Given the description of an element on the screen output the (x, y) to click on. 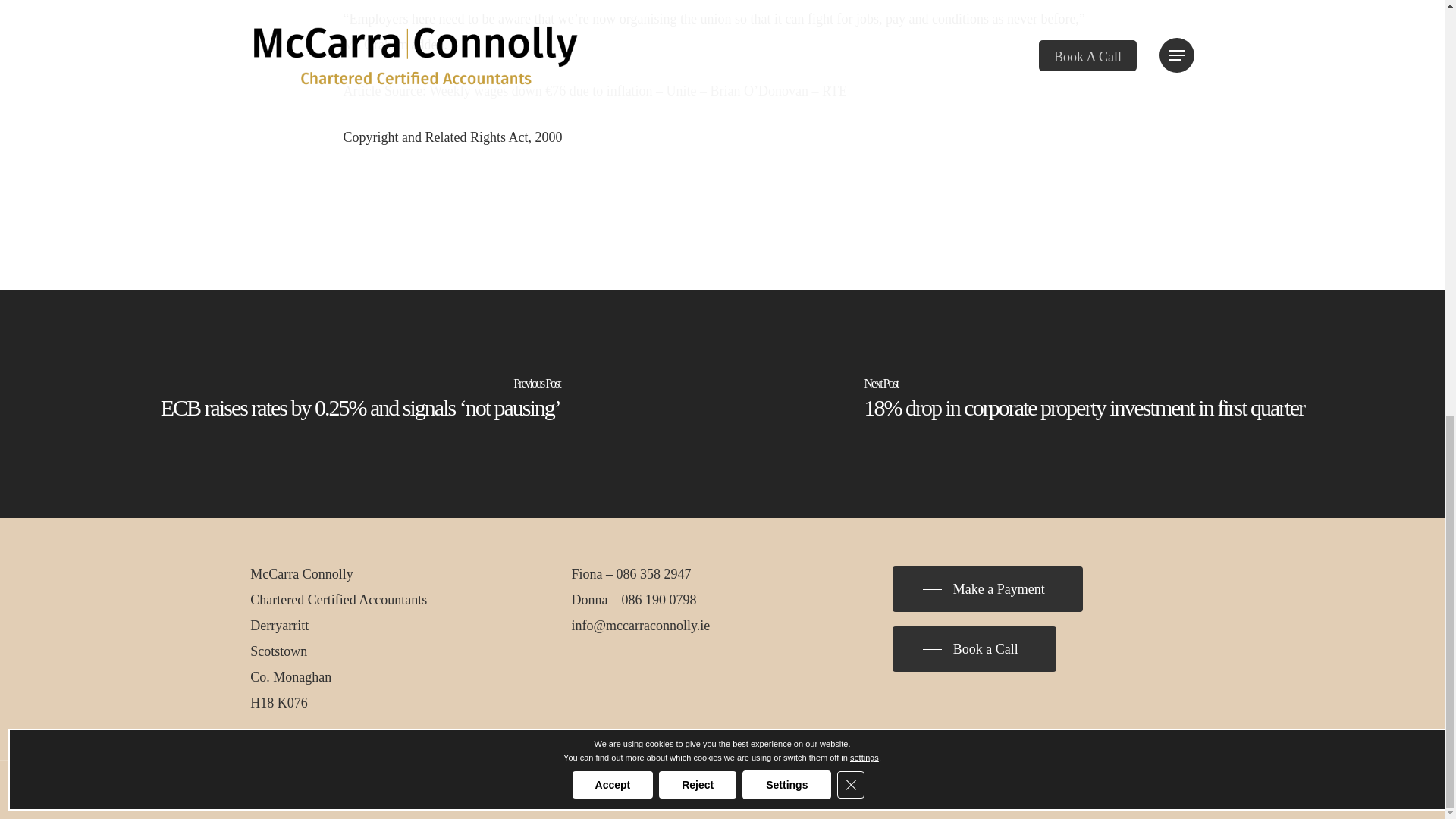
PracticeNet (638, 790)
Copyright and Related Rights Act, 2000 (452, 136)
Privacy (505, 790)
Cookies (580, 790)
Book a Call (974, 648)
Terms (542, 790)
086 190 0798 (659, 599)
Make a Payment (987, 588)
086 358 2947 (653, 573)
